Given the description of an element on the screen output the (x, y) to click on. 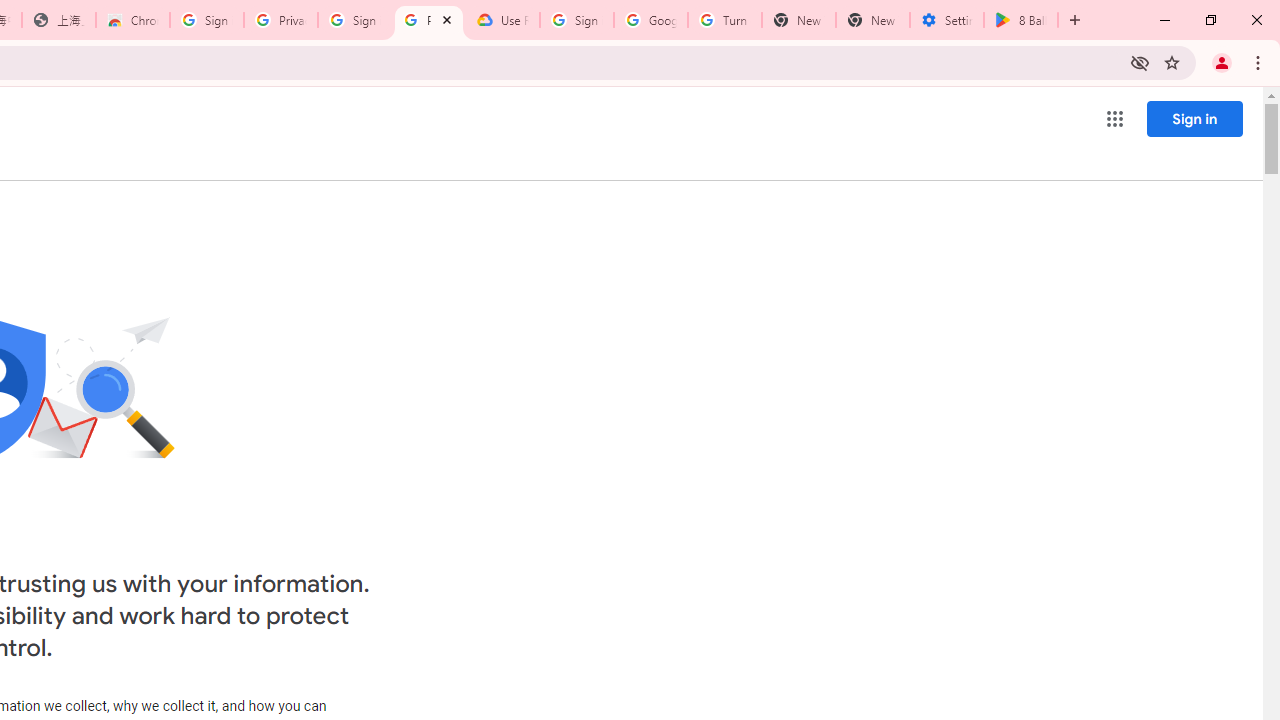
8 Ball Pool - Apps on Google Play (1021, 20)
Turn cookies on or off - Computer - Google Account Help (724, 20)
Sign in - Google Accounts (354, 20)
Sign in - Google Accounts (207, 20)
